Given the description of an element on the screen output the (x, y) to click on. 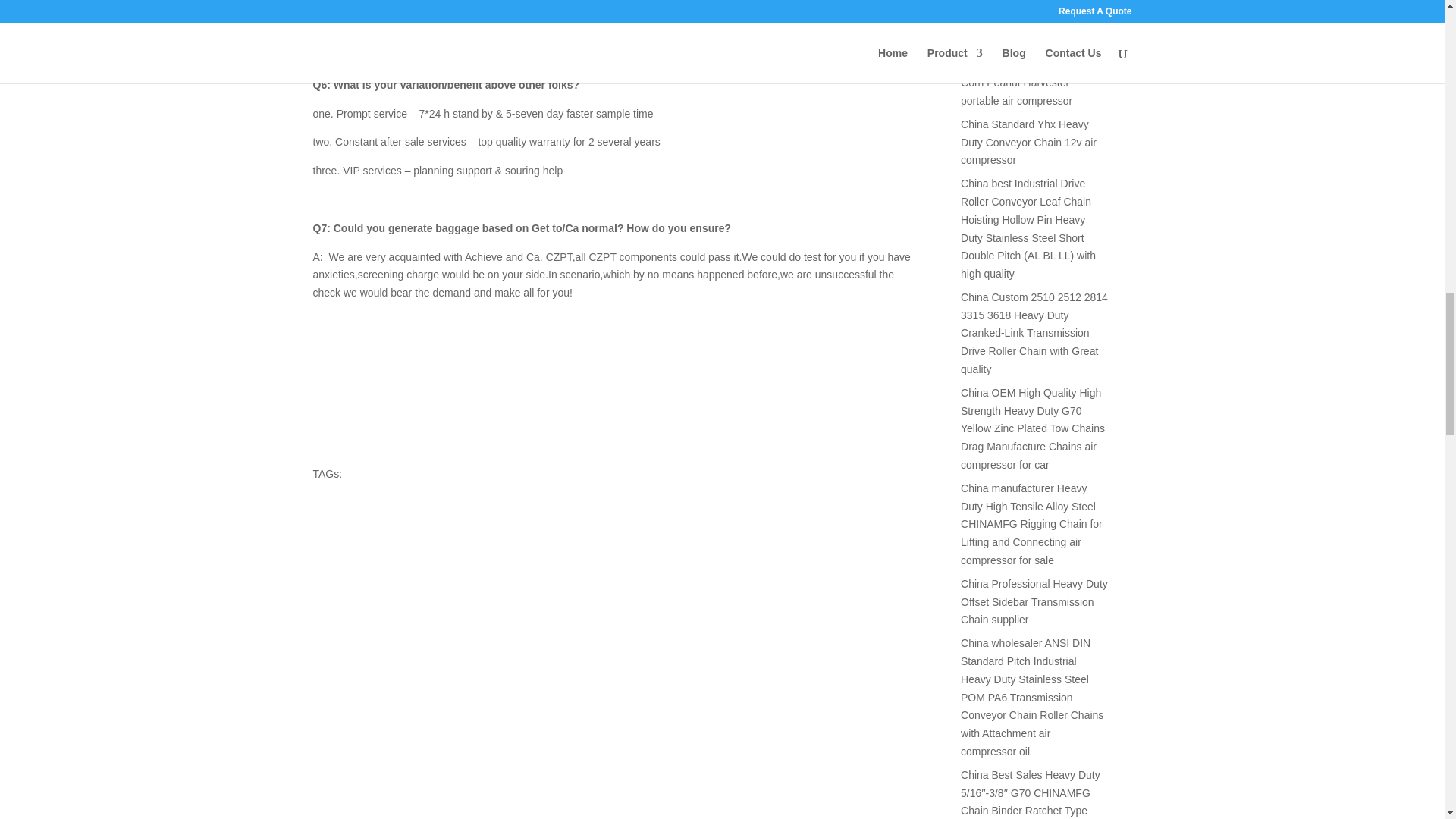
Bike Bag Waterproof Bike Pannier Bag,  (426, 380)
